Given the description of an element on the screen output the (x, y) to click on. 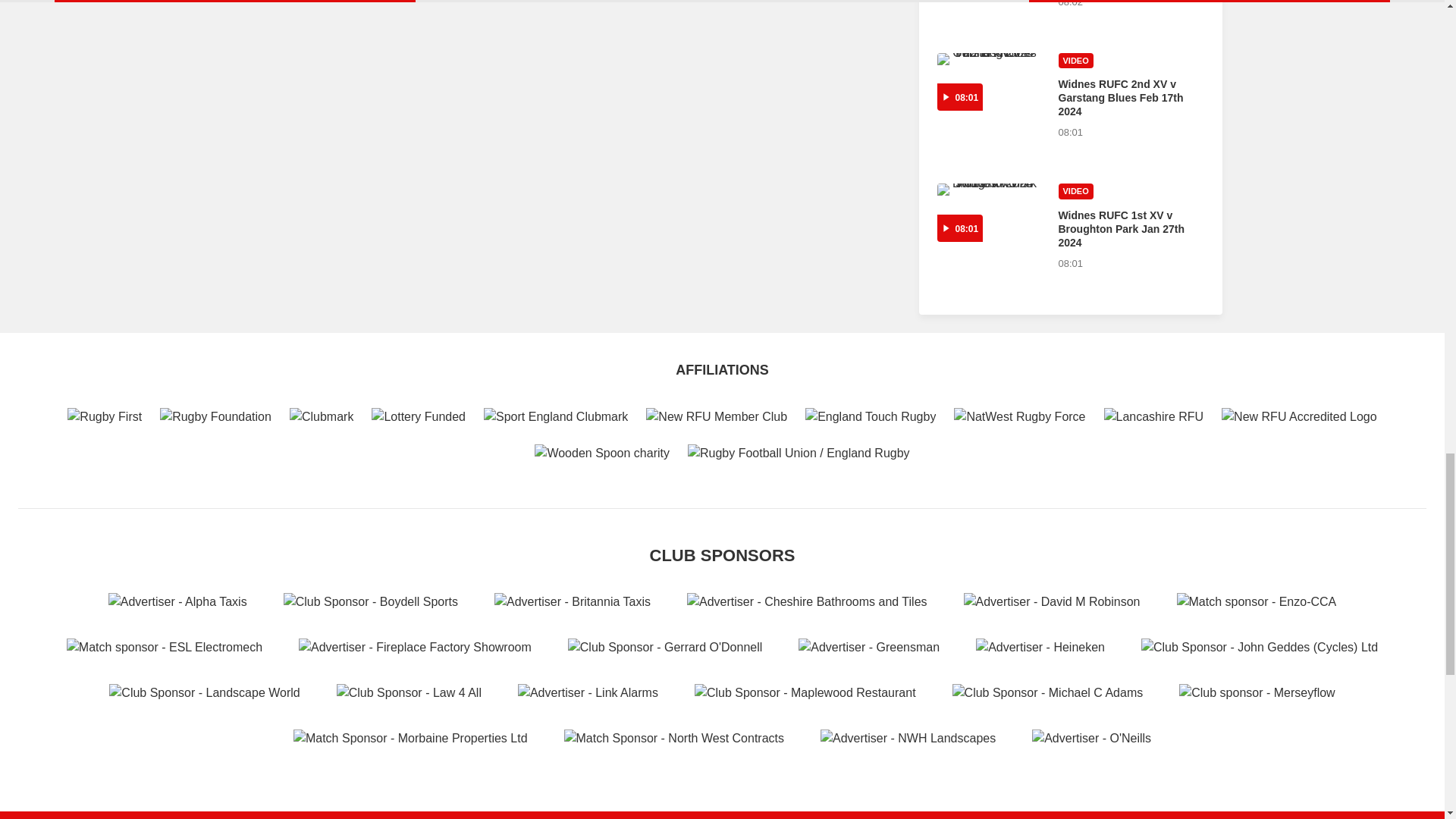
Advertiser - David M Robinson (1051, 601)
Advertiser - Britannia Taxis (572, 601)
Match sponsor - Enzo-CCA (1256, 601)
Advertiser - Heineken (1040, 647)
Advertiser - Greensman (868, 647)
Advertiser - Fireplace Factory Showroom (414, 647)
Advertiser - Cheshire Bathrooms and Tiles (807, 601)
Match sponsor - ESL Electromech (164, 647)
Advertiser - Alpha Taxis (177, 601)
Club Sponsor - Boydell Sports (370, 601)
